Given the description of an element on the screen output the (x, y) to click on. 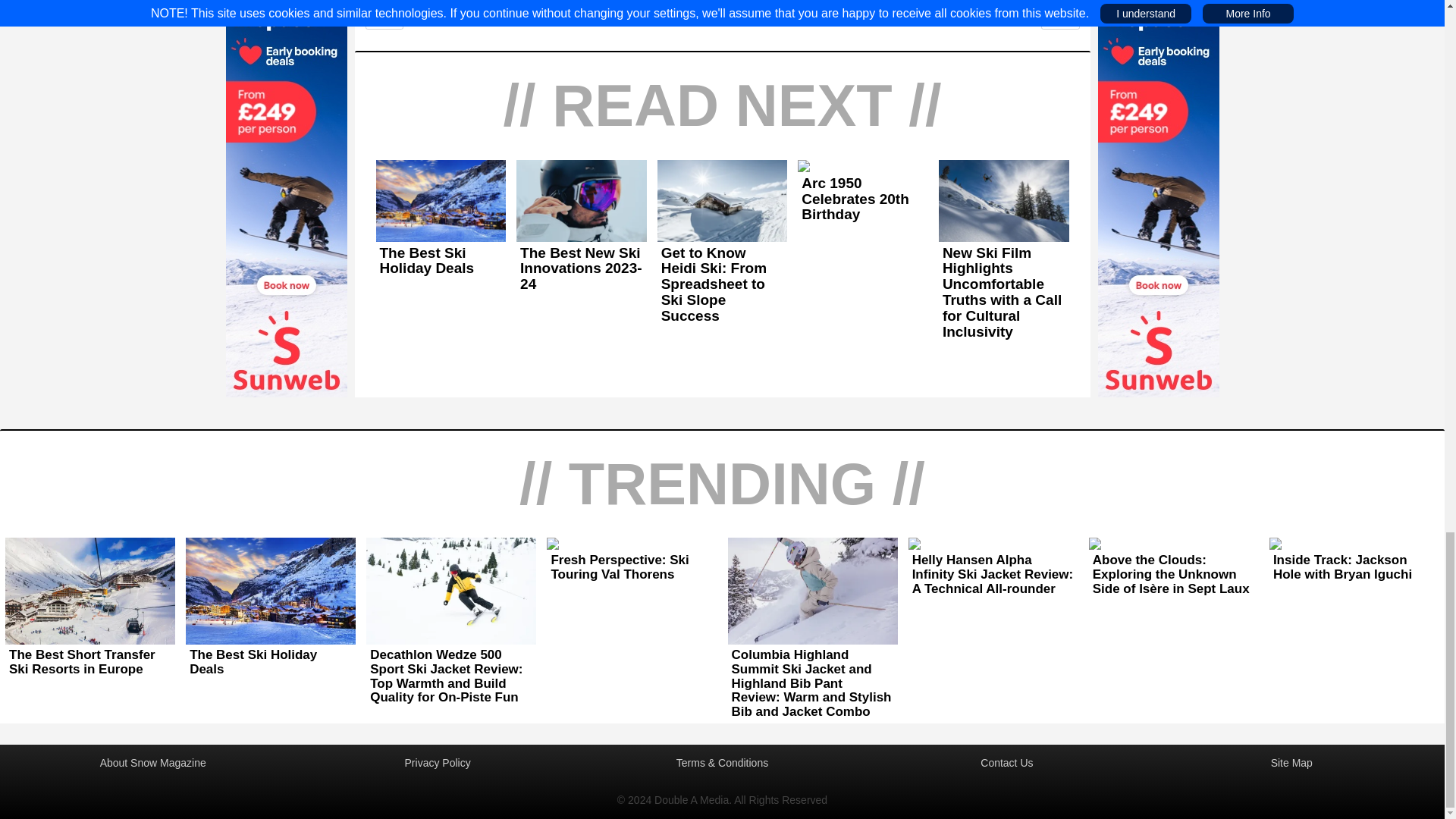
The Best Ski Holiday Deals (440, 261)
Get to Know Heidi Ski: From Spreadsheet to Ski Slope Success (722, 284)
The Best New Ski Innovations 2023-24 (581, 269)
Arc 1950 Celebrates 20th Birthday (862, 199)
